Given the description of an element on the screen output the (x, y) to click on. 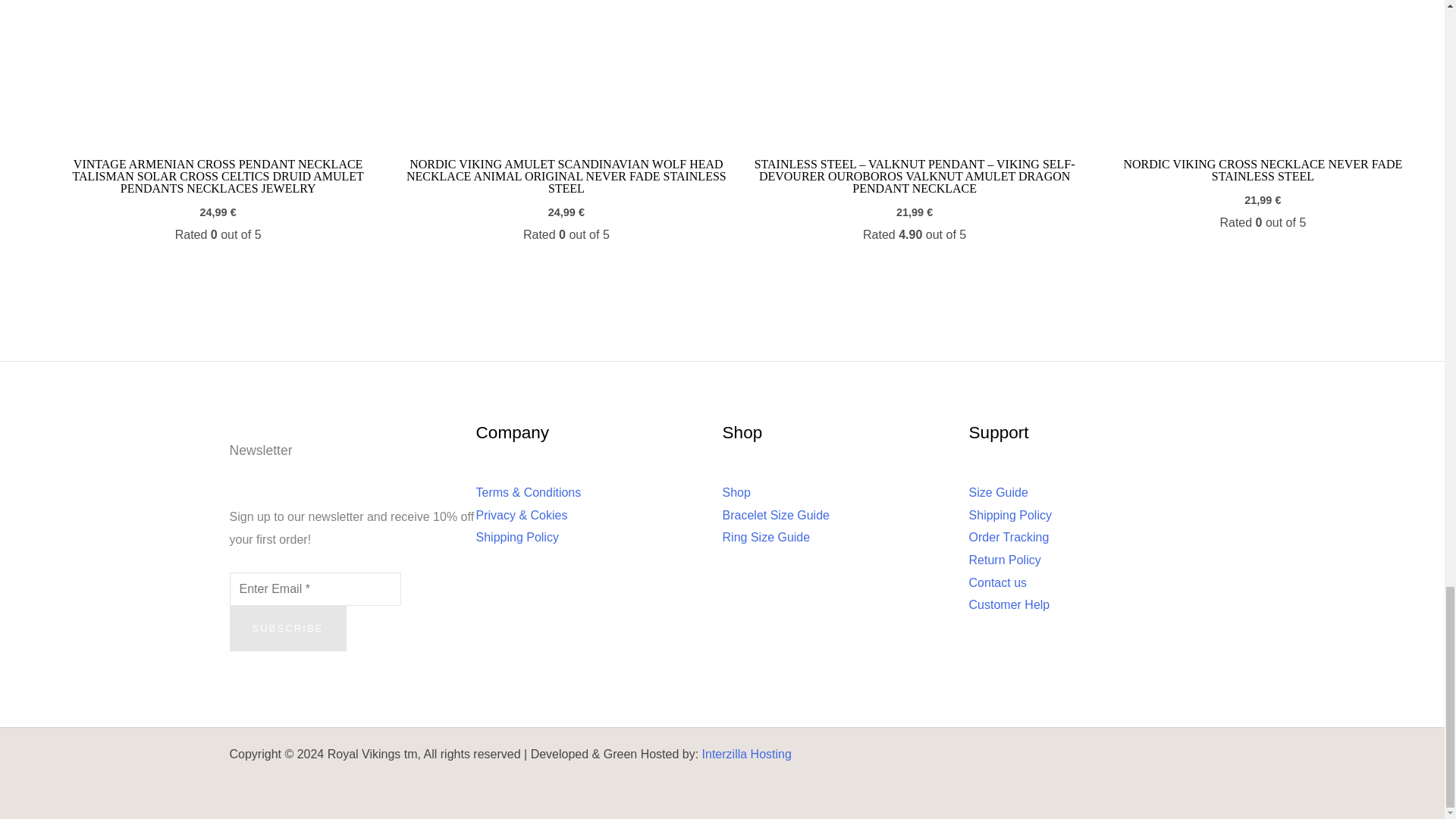
Subscribe (287, 628)
